Given the description of an element on the screen output the (x, y) to click on. 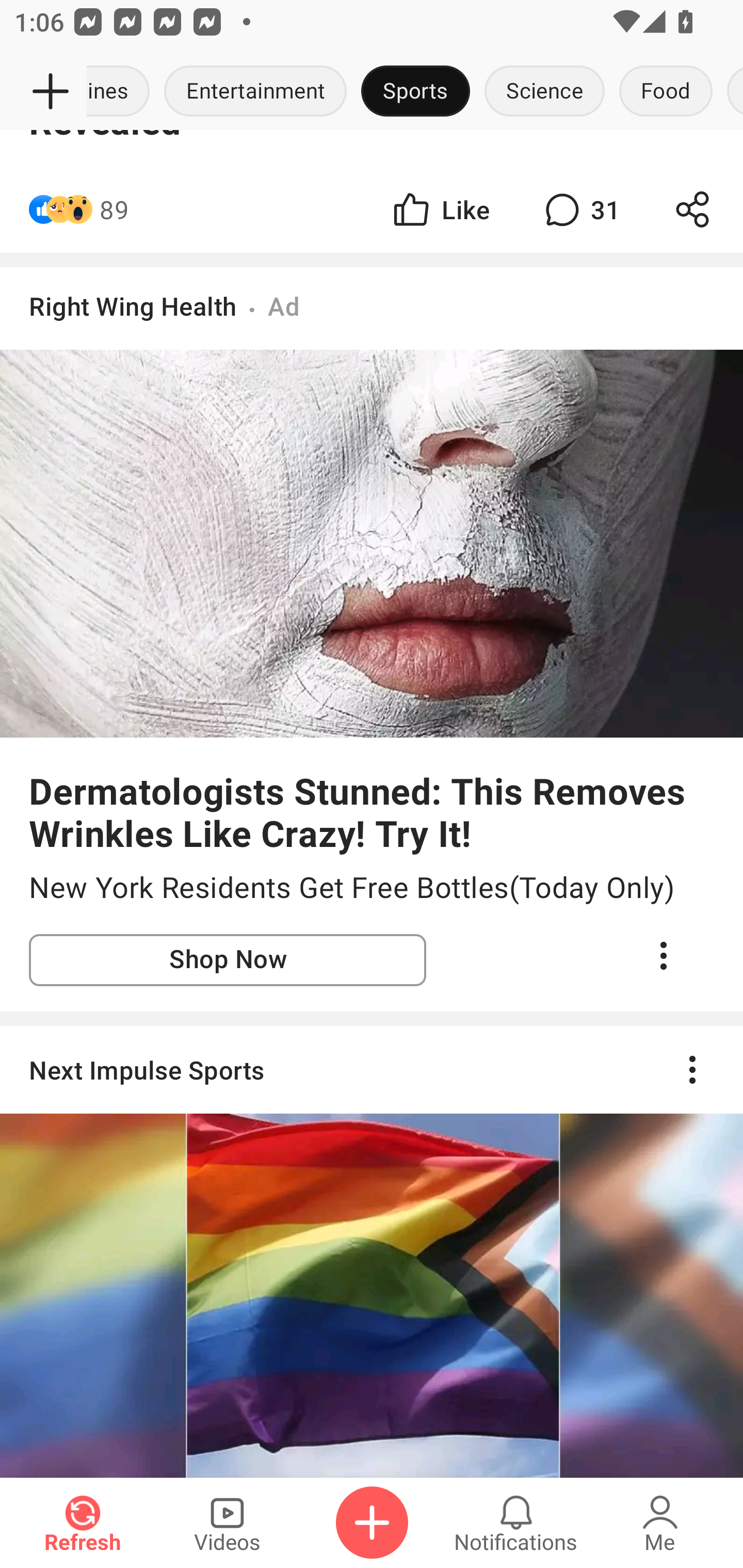
Headlines (121, 91)
Entertainment (254, 91)
Sports (415, 91)
Science (544, 91)
Food (665, 91)
89 (114, 209)
Like (439, 209)
31 (579, 209)
Right Wing Health (132, 305)
New York Residents Get Free Bottles(Today Only) (371, 888)
Shop Now (227, 960)
Next Impulse Sports (371, 1251)
Next Impulse Sports (371, 1069)
Videos (227, 1522)
Notifications (516, 1522)
Me (659, 1522)
